Given the description of an element on the screen output the (x, y) to click on. 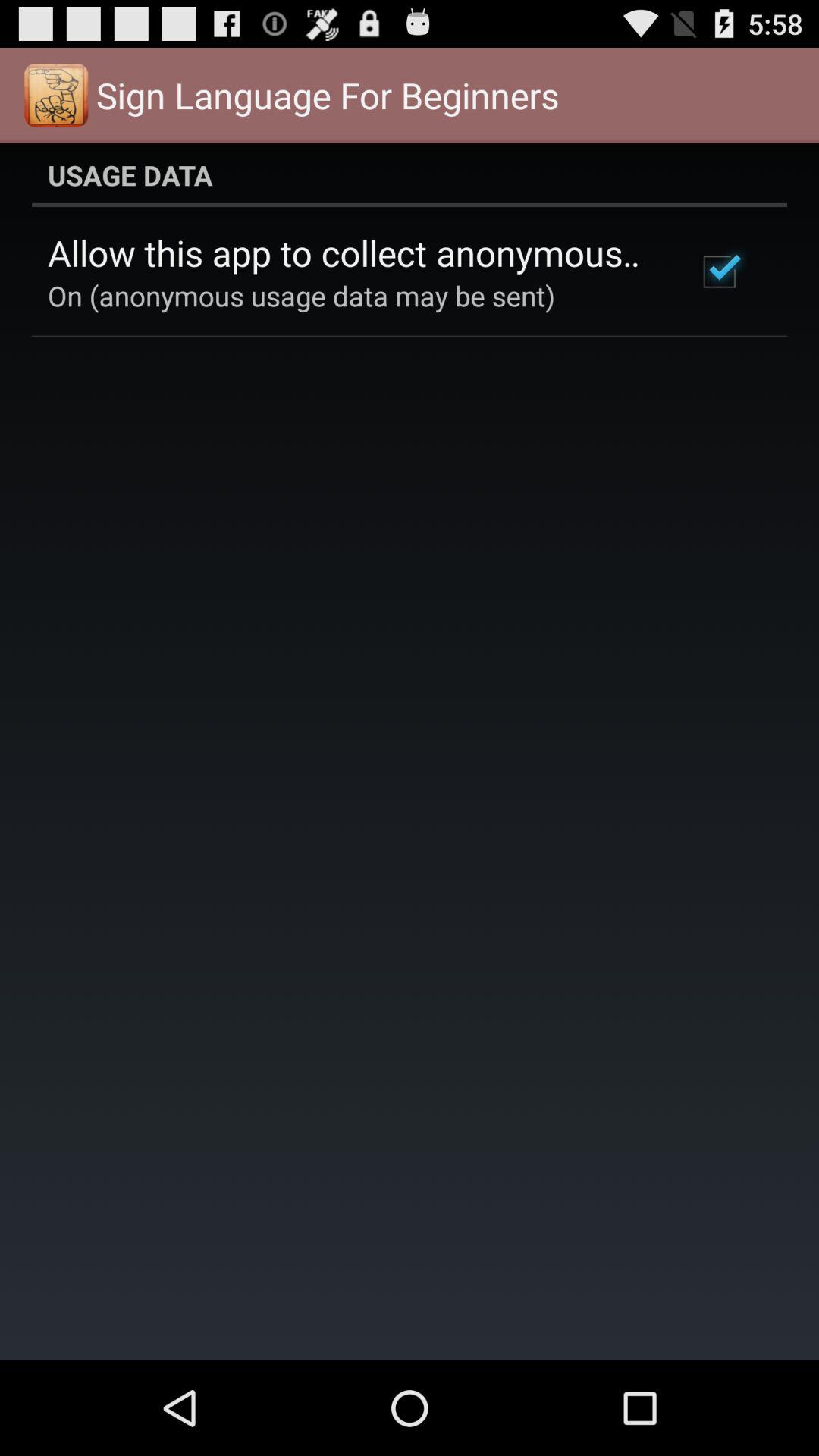
select icon next to the allow this app (719, 271)
